Given the description of an element on the screen output the (x, y) to click on. 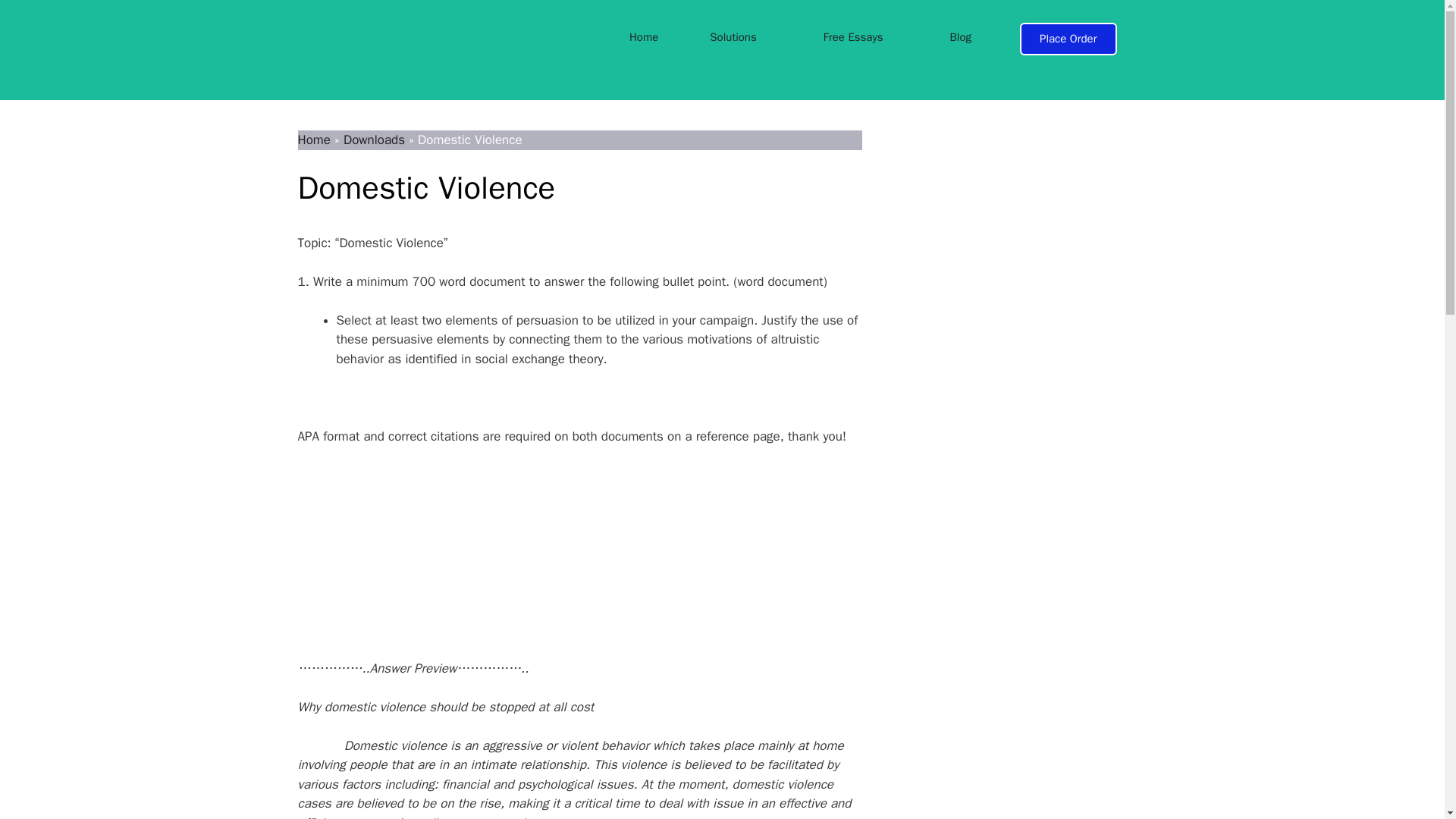
Home (644, 37)
Place Order (1068, 38)
Solutions (732, 37)
Blog (960, 37)
Home (313, 139)
Downloads (373, 139)
Place order (1018, 233)
Free Essays (853, 37)
